Given the description of an element on the screen output the (x, y) to click on. 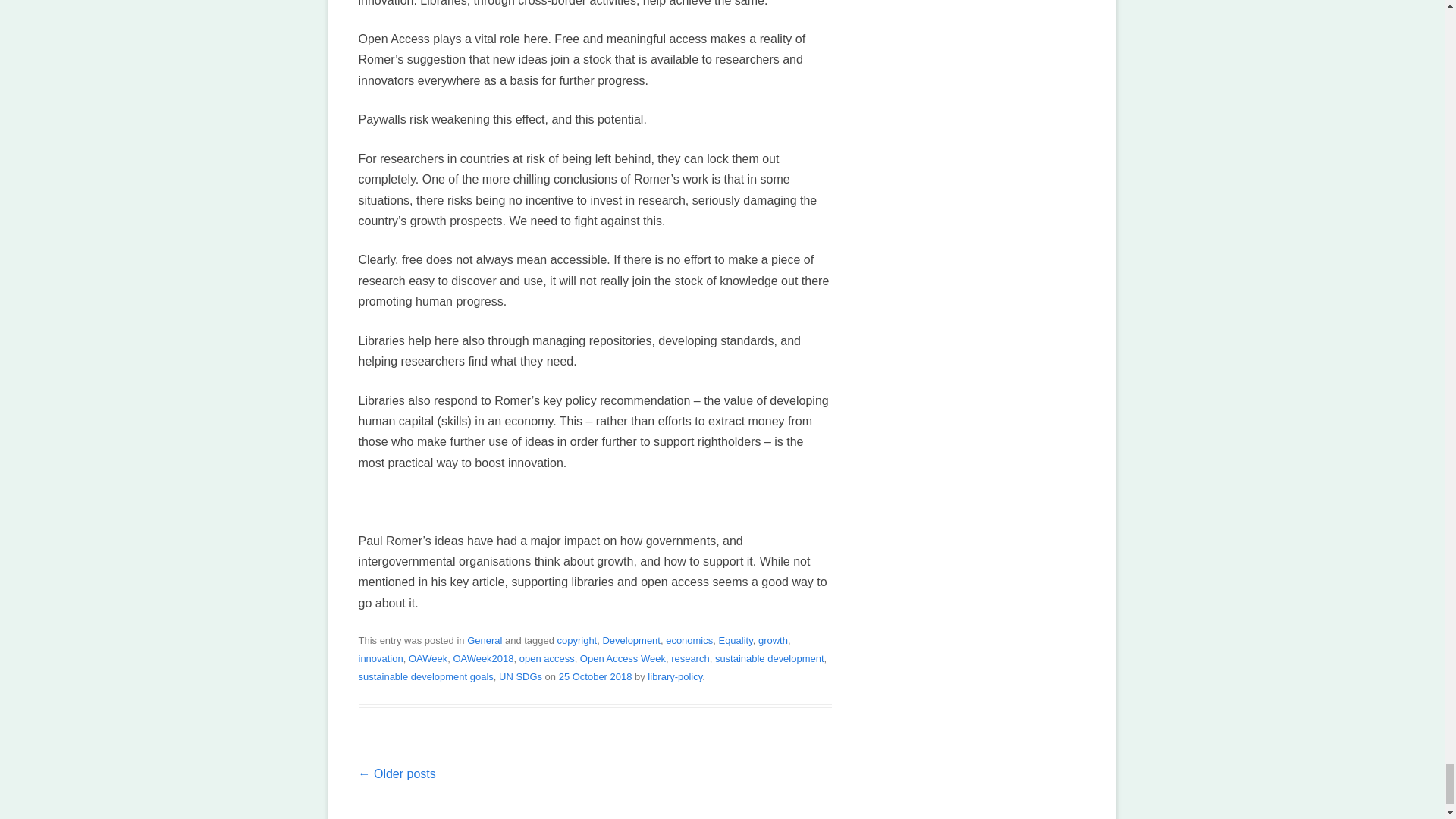
View all posts by library-policy (674, 676)
14:23 (595, 676)
